Given the description of an element on the screen output the (x, y) to click on. 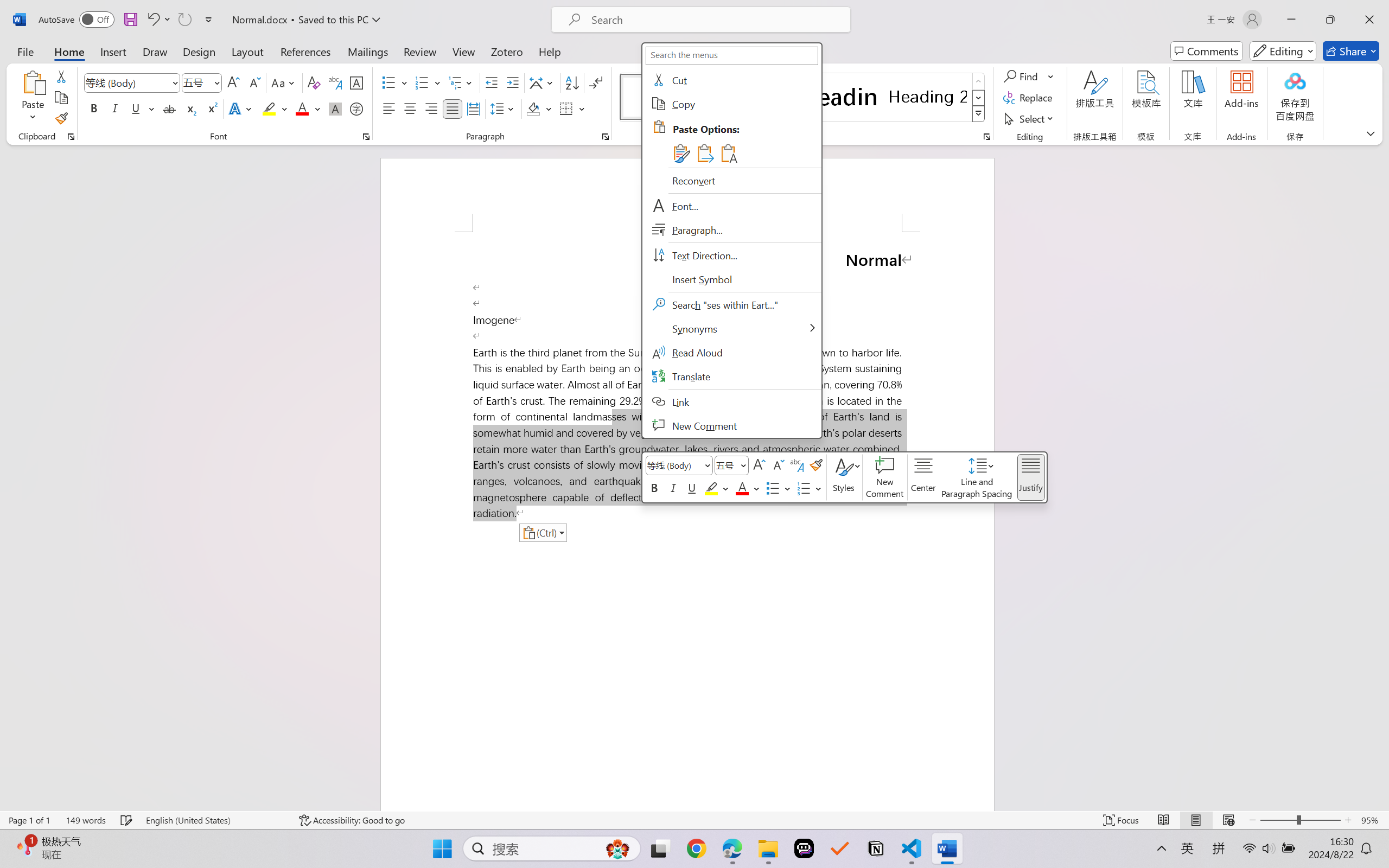
Styles (978, 113)
Class: MsoCommandBar (694, 819)
Format Painter (60, 118)
Google Chrome (696, 848)
Center (409, 108)
Copy (730, 104)
Decrease Indent (491, 82)
Superscript (210, 108)
Link (730, 401)
Zoom 95% (1372, 819)
Row Down (978, 97)
